Given the description of an element on the screen output the (x, y) to click on. 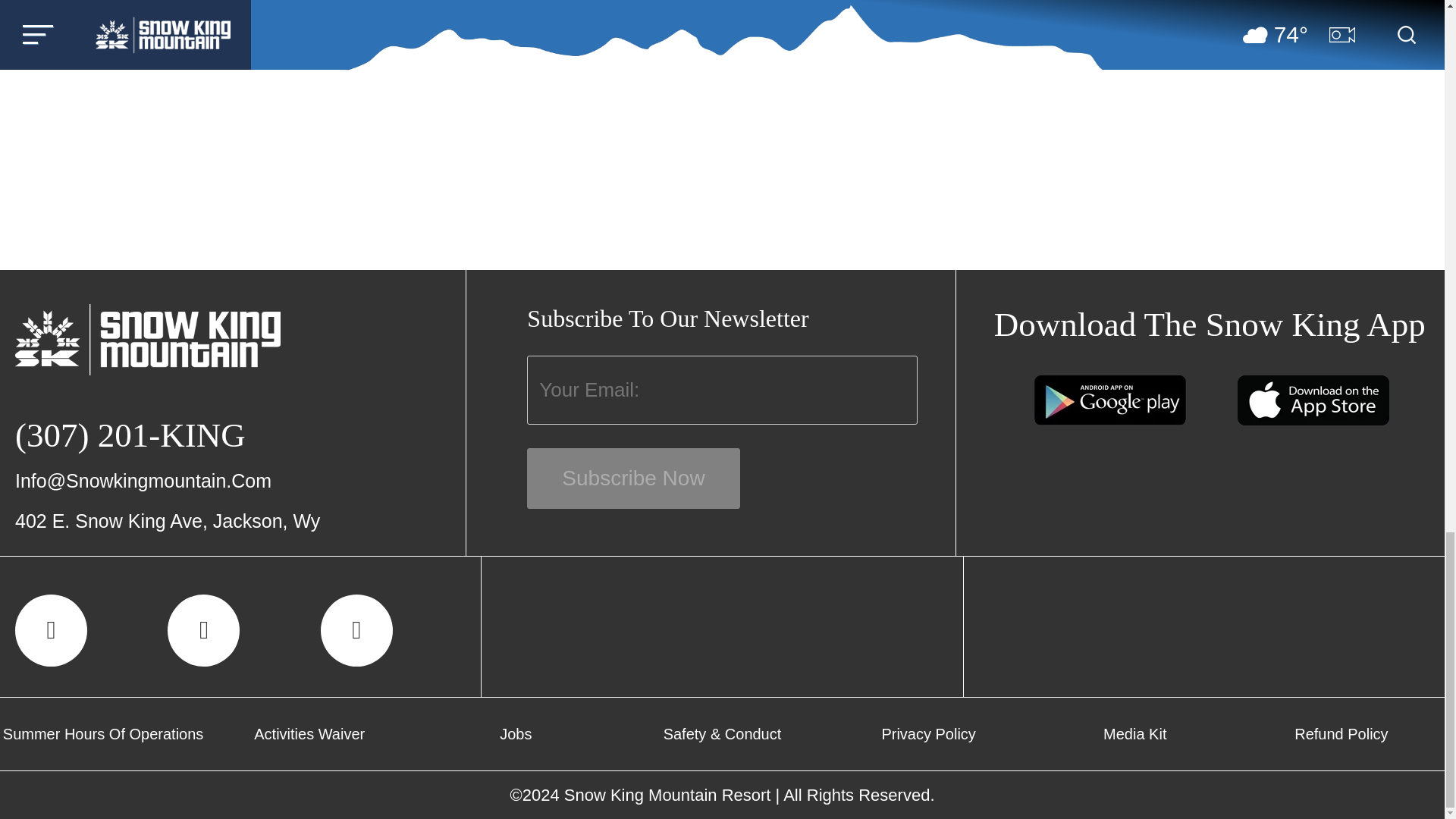
Subscribe Now (633, 477)
